Given the description of an element on the screen output the (x, y) to click on. 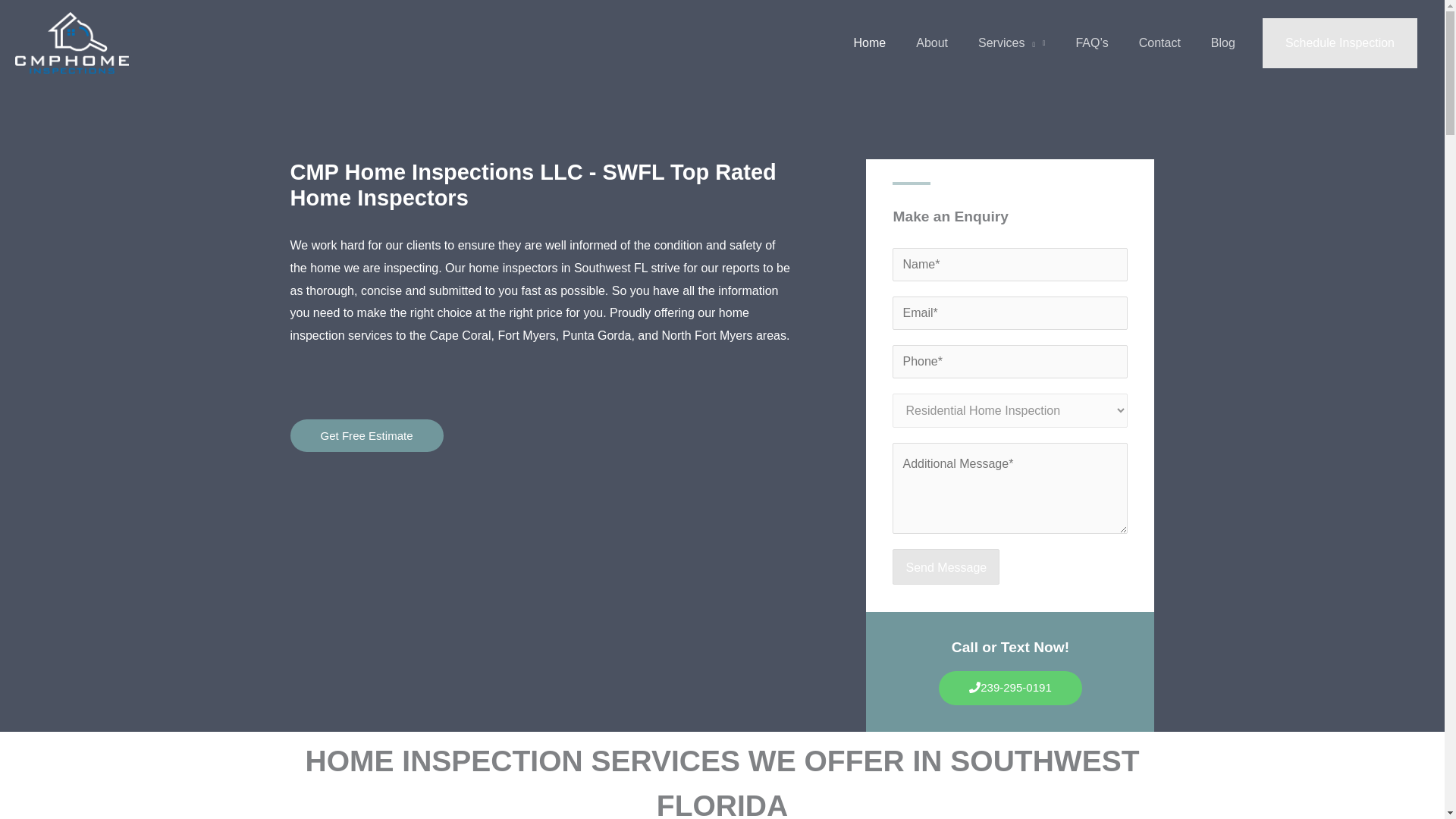
Get Free Estimate (365, 435)
239-295-0191 (1010, 687)
About (931, 42)
Blog (1222, 42)
Home (869, 42)
Services (1010, 42)
Contact (1159, 42)
Send Message (945, 566)
Schedule Inspection (1339, 42)
